Given the description of an element on the screen output the (x, y) to click on. 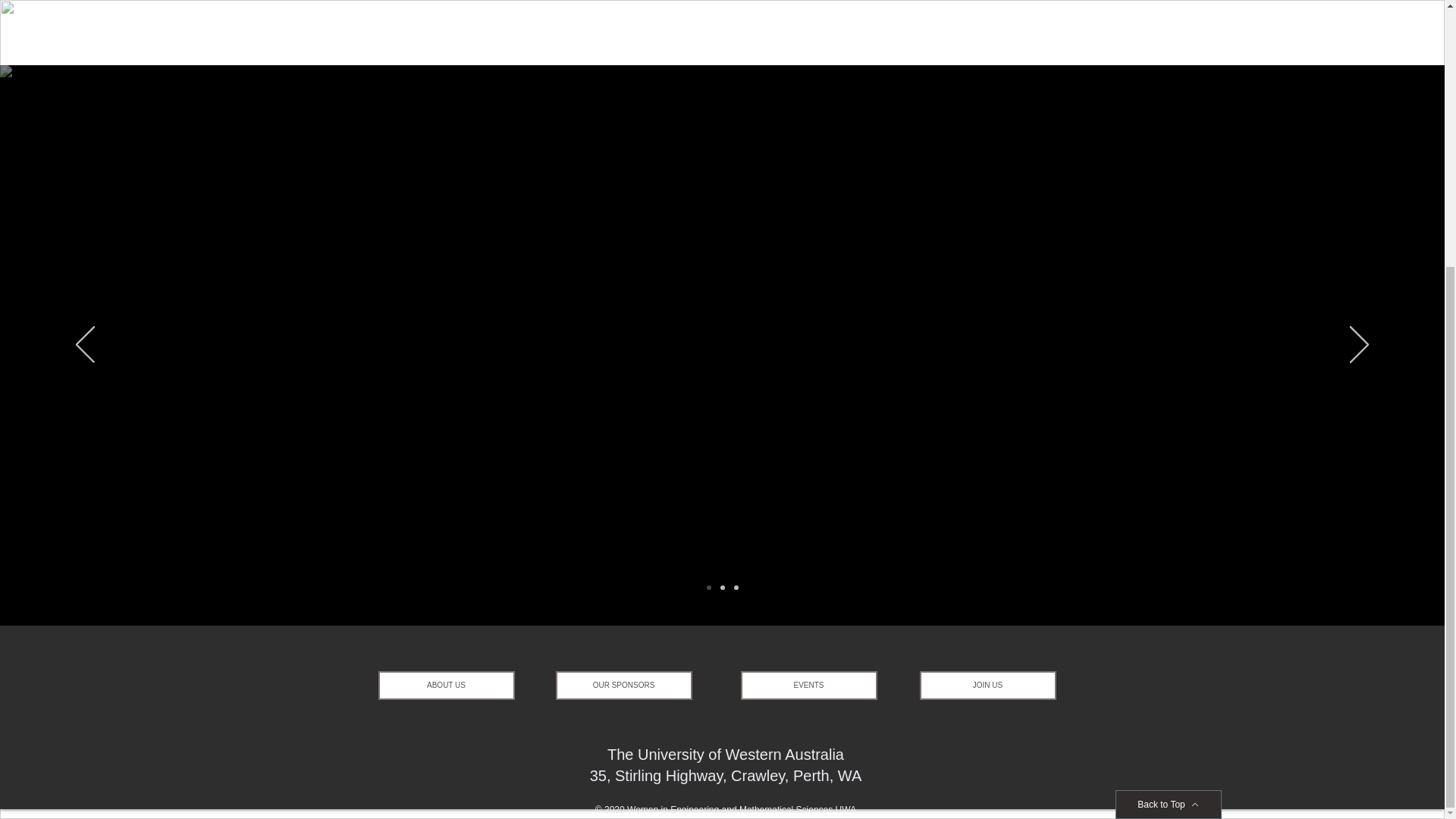
EVENTS (807, 685)
JOIN US (986, 685)
ABOUT US (445, 685)
OUR SPONSORS (622, 685)
